Given the description of an element on the screen output the (x, y) to click on. 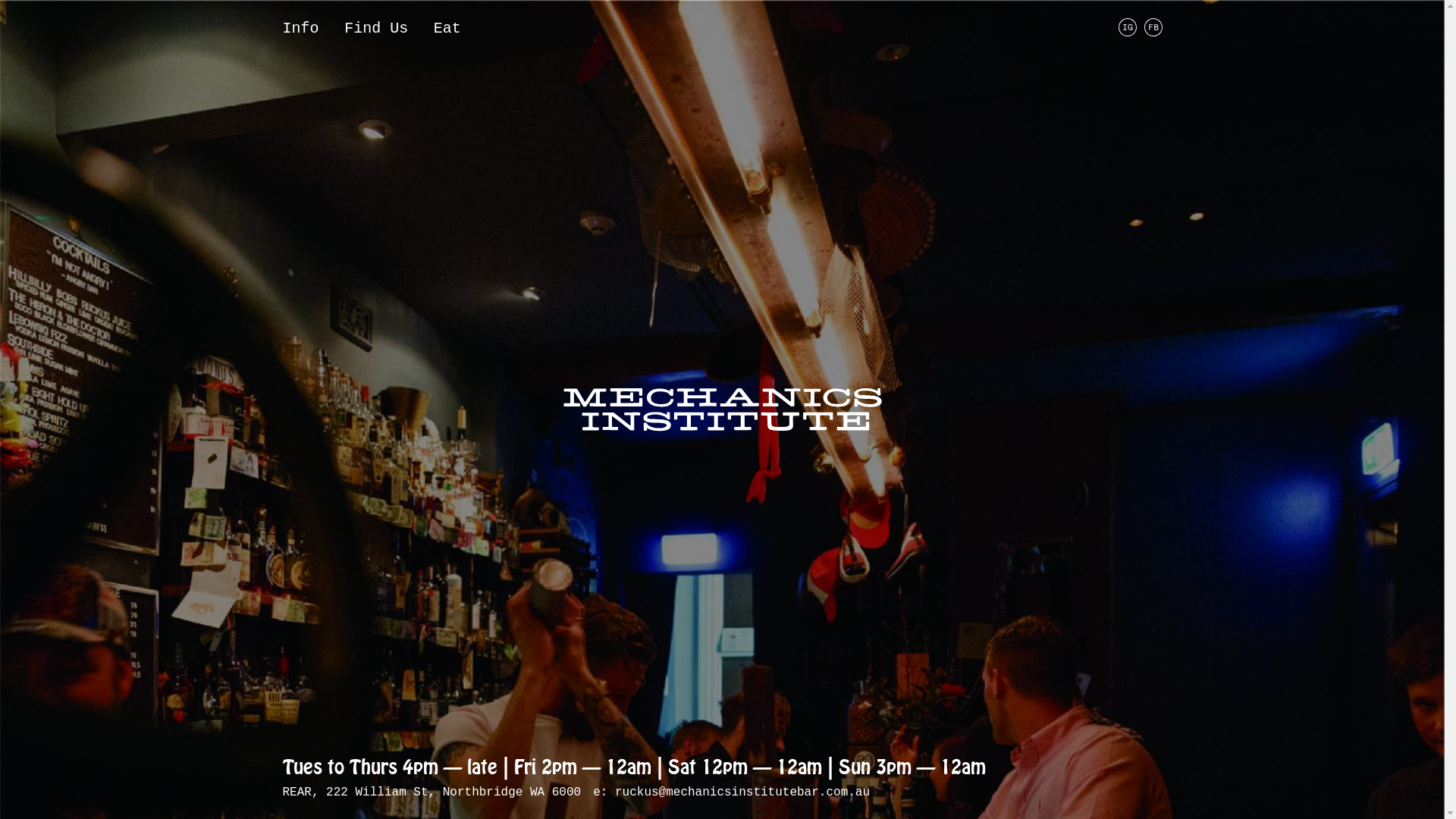
Eat Element type: text (447, 28)
Info Element type: text (300, 28)
Find Us Element type: text (375, 28)
Follow us on Facebook Element type: hover (1152, 33)
e: ruckus@mechanicsinstitutebar.com.au Element type: text (731, 792)
Find us on Instagram Element type: hover (1127, 33)
